Given the description of an element on the screen output the (x, y) to click on. 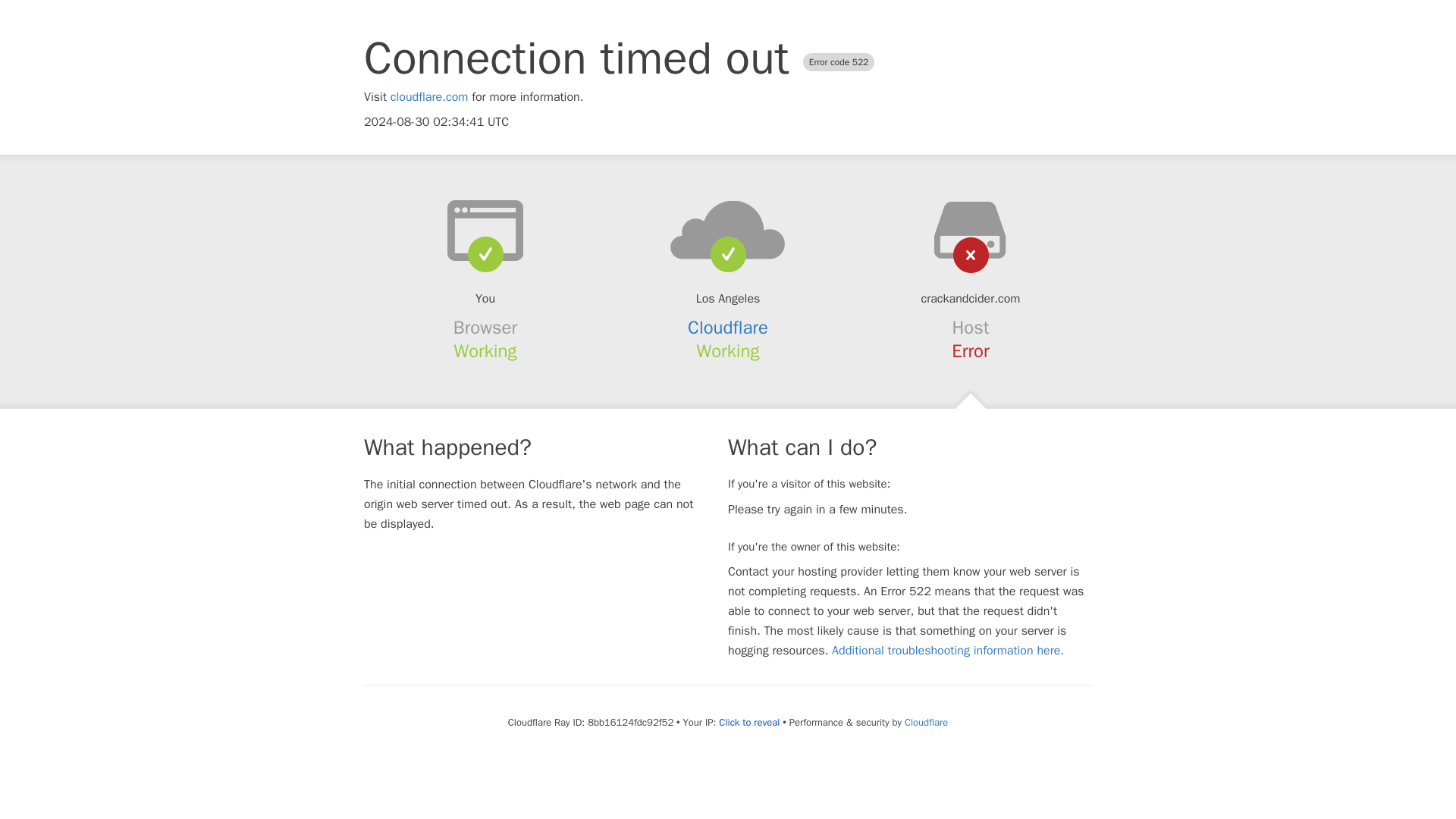
Additional troubleshooting information here. (947, 650)
cloudflare.com (429, 96)
Cloudflare (925, 721)
Click to reveal (748, 722)
Cloudflare (727, 327)
